Given the description of an element on the screen output the (x, y) to click on. 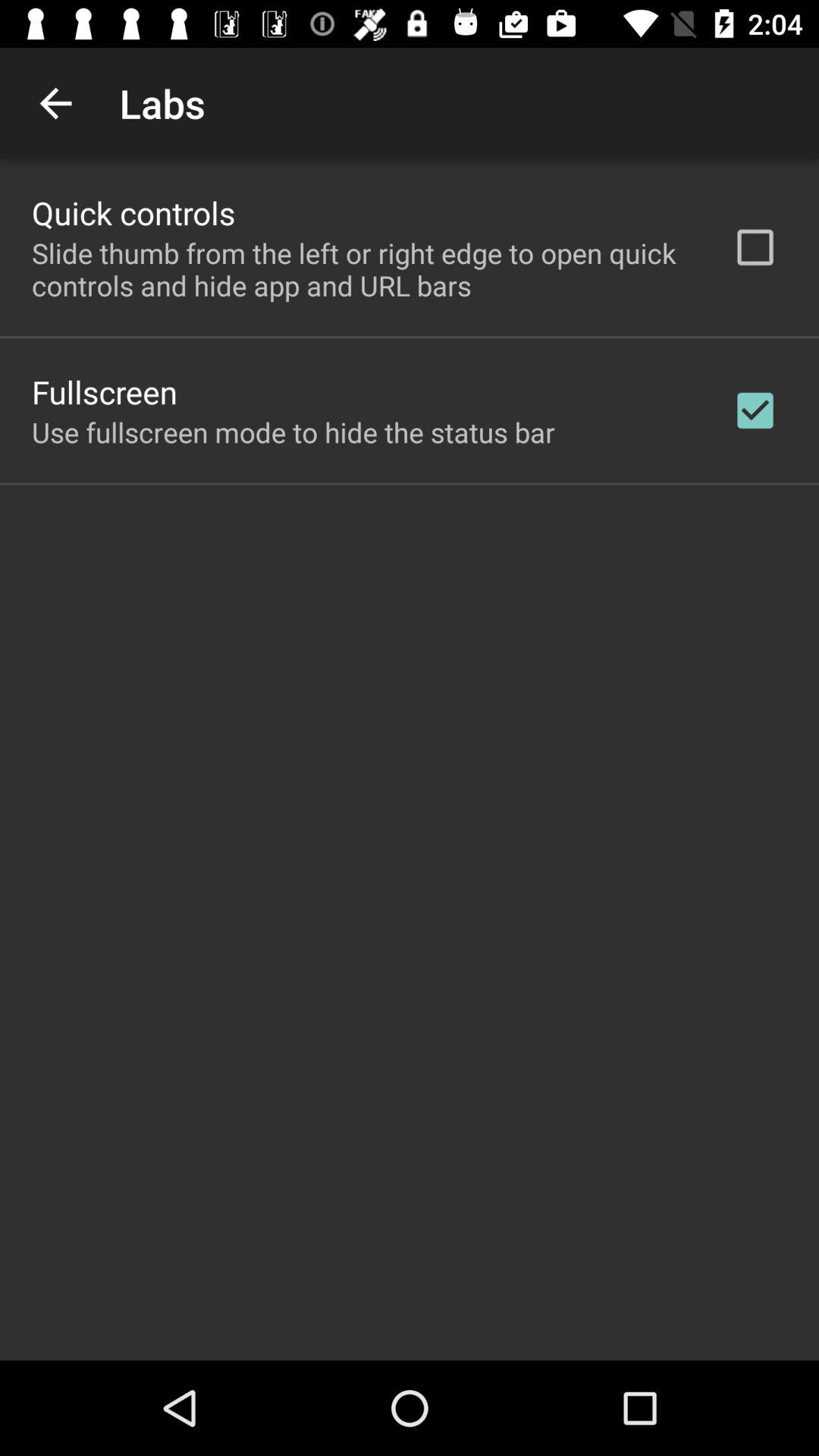
scroll to the use fullscreen mode (293, 432)
